Given the description of an element on the screen output the (x, y) to click on. 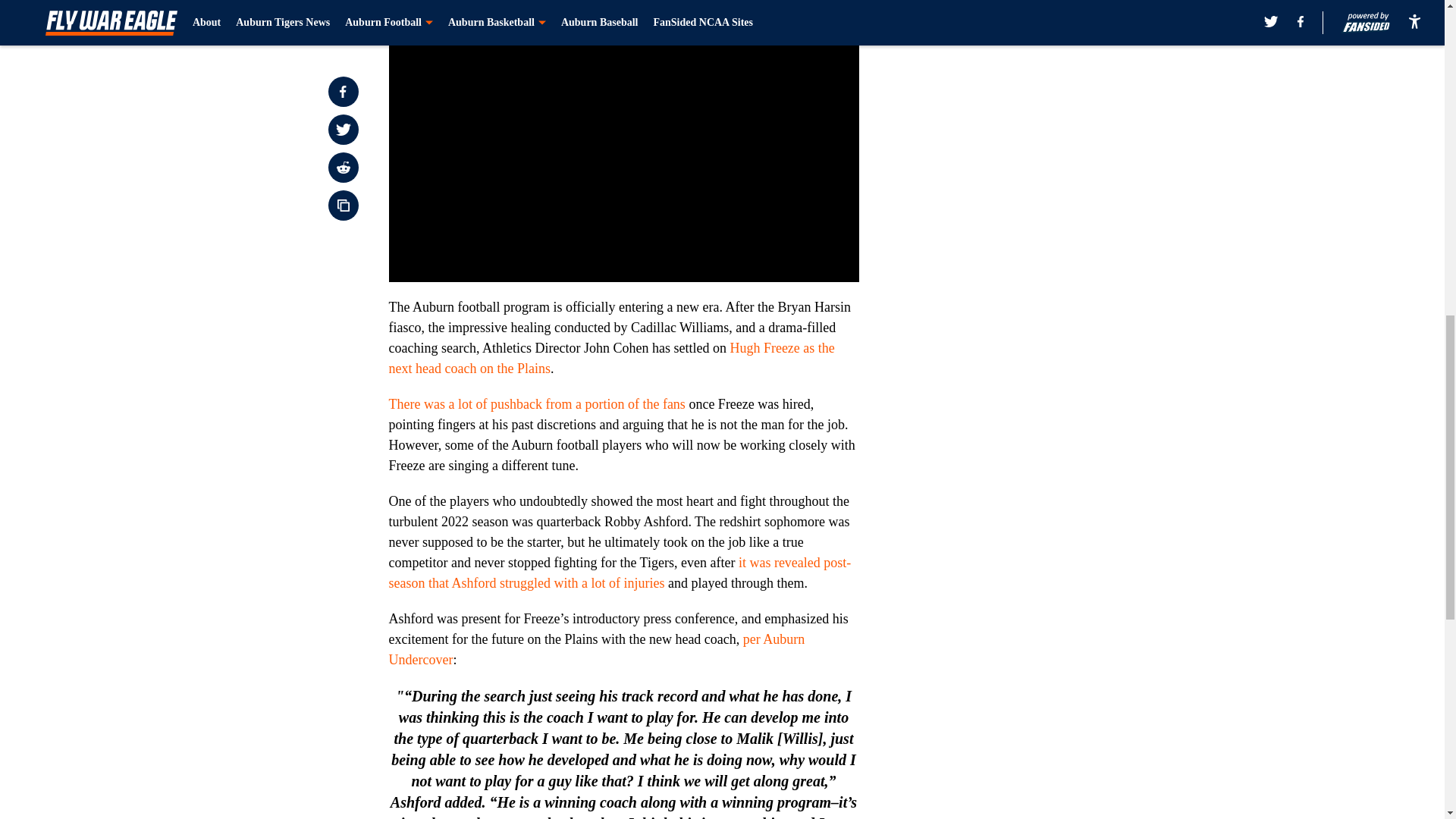
per Auburn Undercover (596, 649)
There was a lot of pushback from a portion of the fans (536, 403)
Hugh Freeze as the next head coach on the Plains (611, 357)
